Given the description of an element on the screen output the (x, y) to click on. 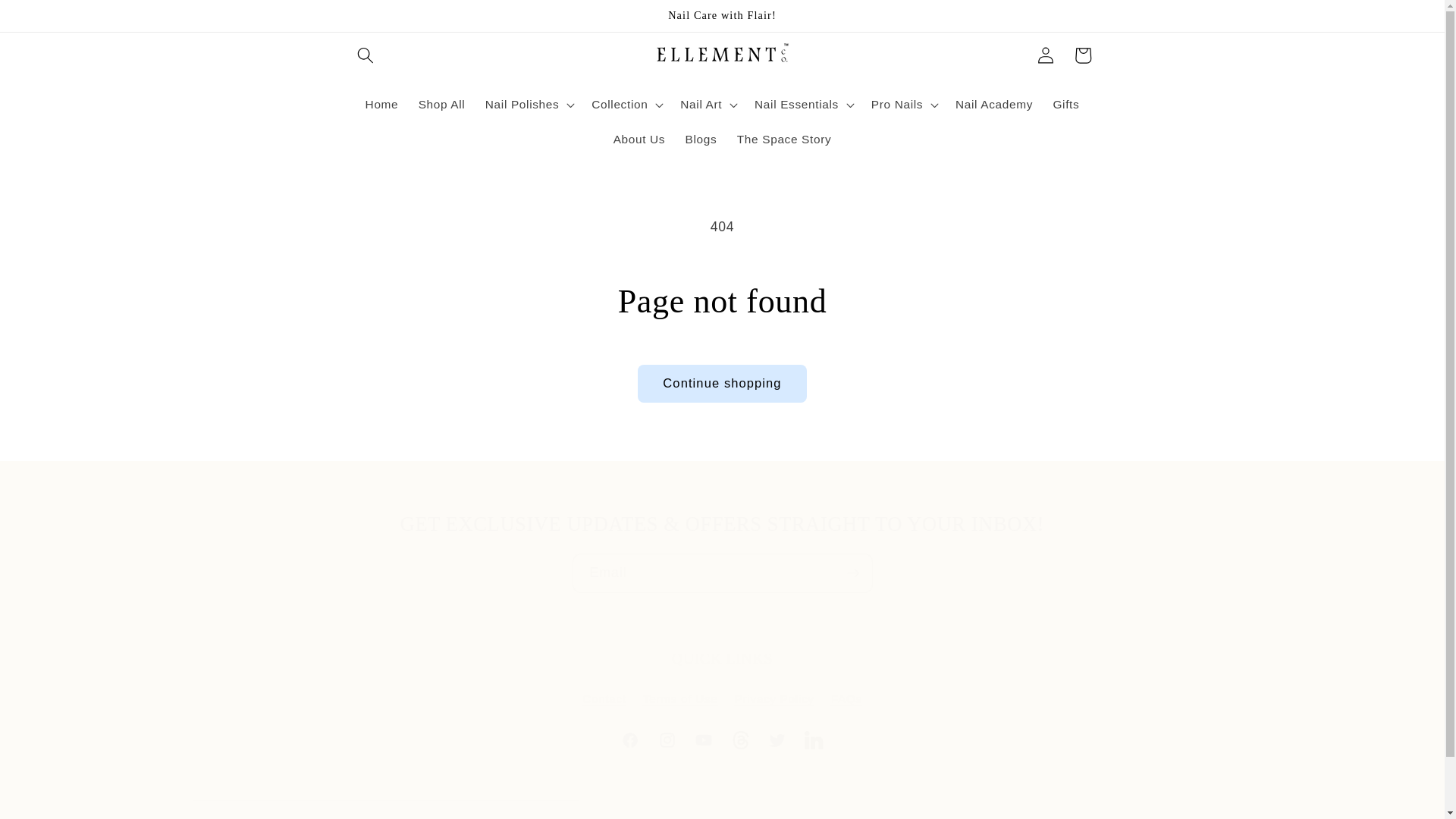
Email (722, 572)
Skip to content (722, 664)
